Given the description of an element on the screen output the (x, y) to click on. 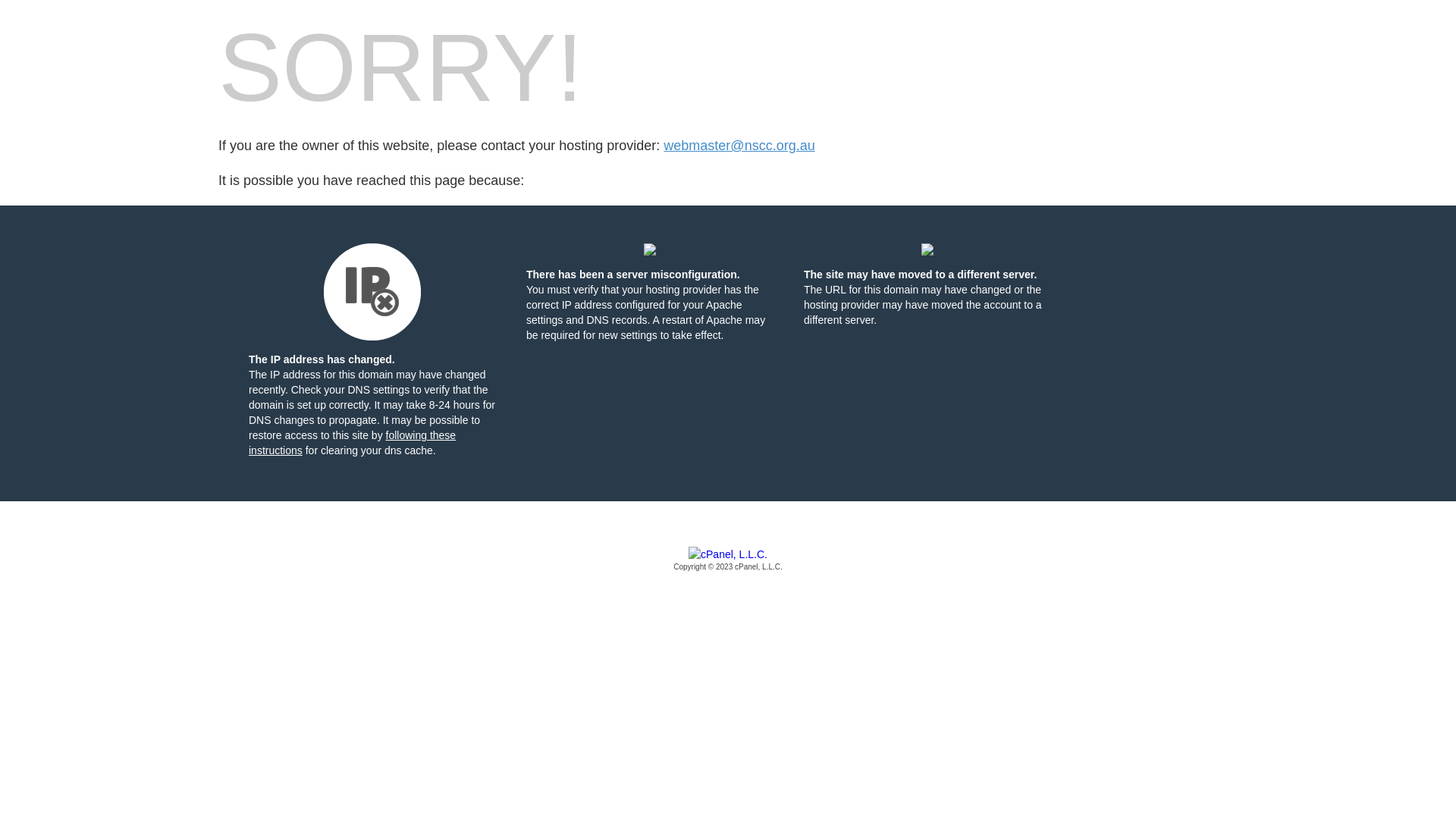
following these instructions Element type: text (351, 442)
webmaster@nscc.org.au Element type: text (738, 145)
